Given the description of an element on the screen output the (x, y) to click on. 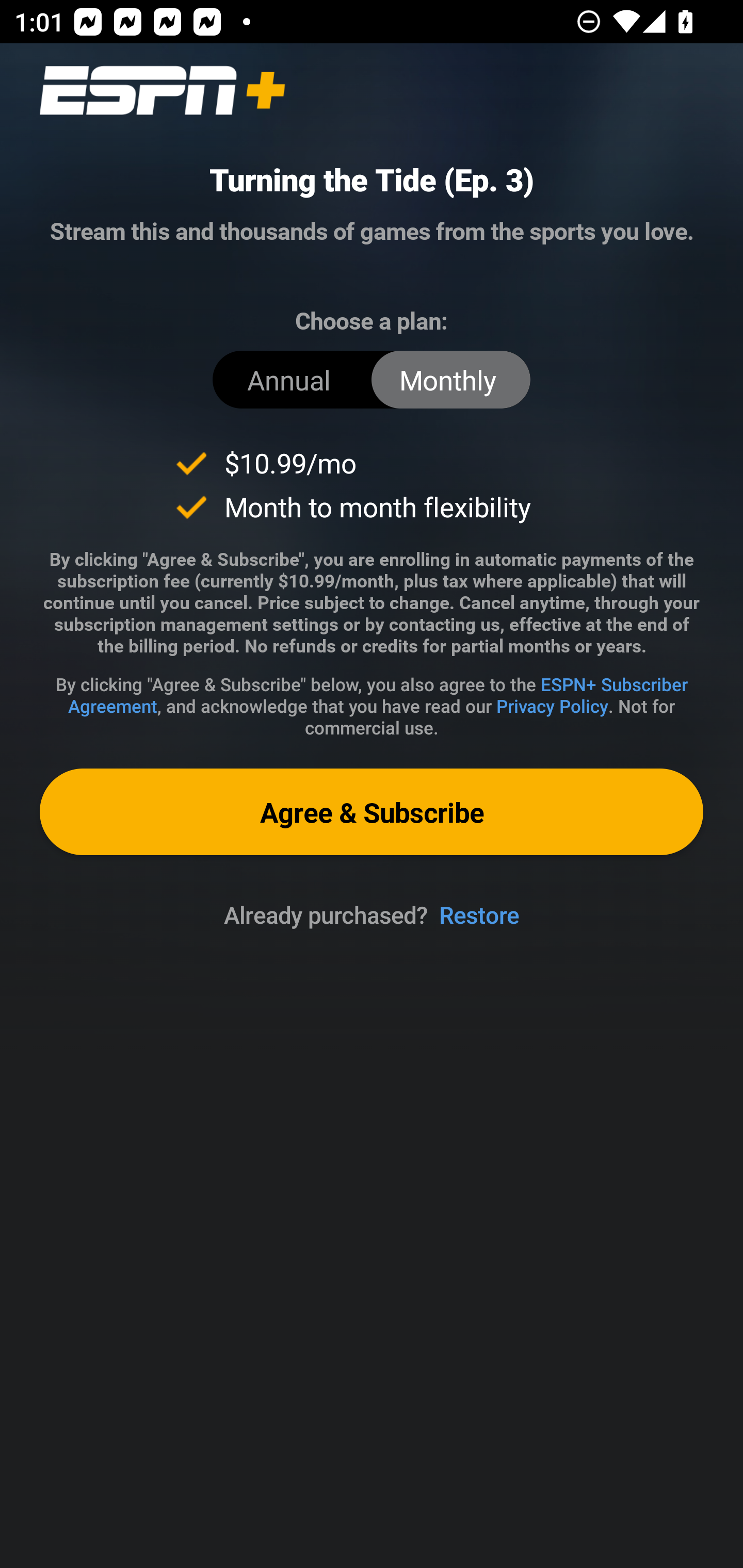
Agree & Subscribe (371, 811)
